Given the description of an element on the screen output the (x, y) to click on. 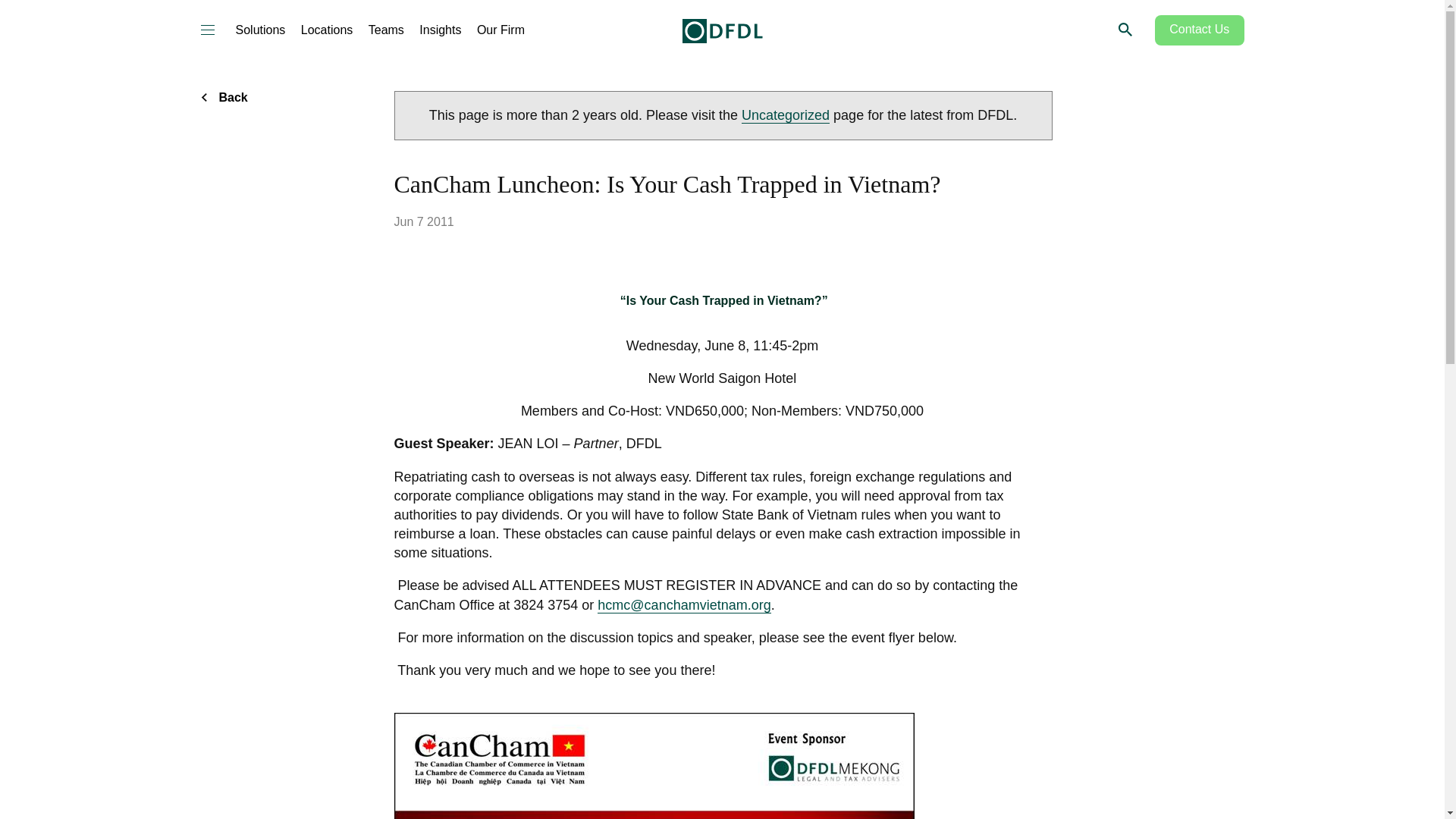
Insights (440, 29)
Uncategorized (785, 115)
Search (1124, 29)
Locations (327, 29)
Back (231, 97)
Solutions (259, 29)
Contact Us (1199, 30)
Our Firm (500, 29)
Teams (386, 29)
